Given the description of an element on the screen output the (x, y) to click on. 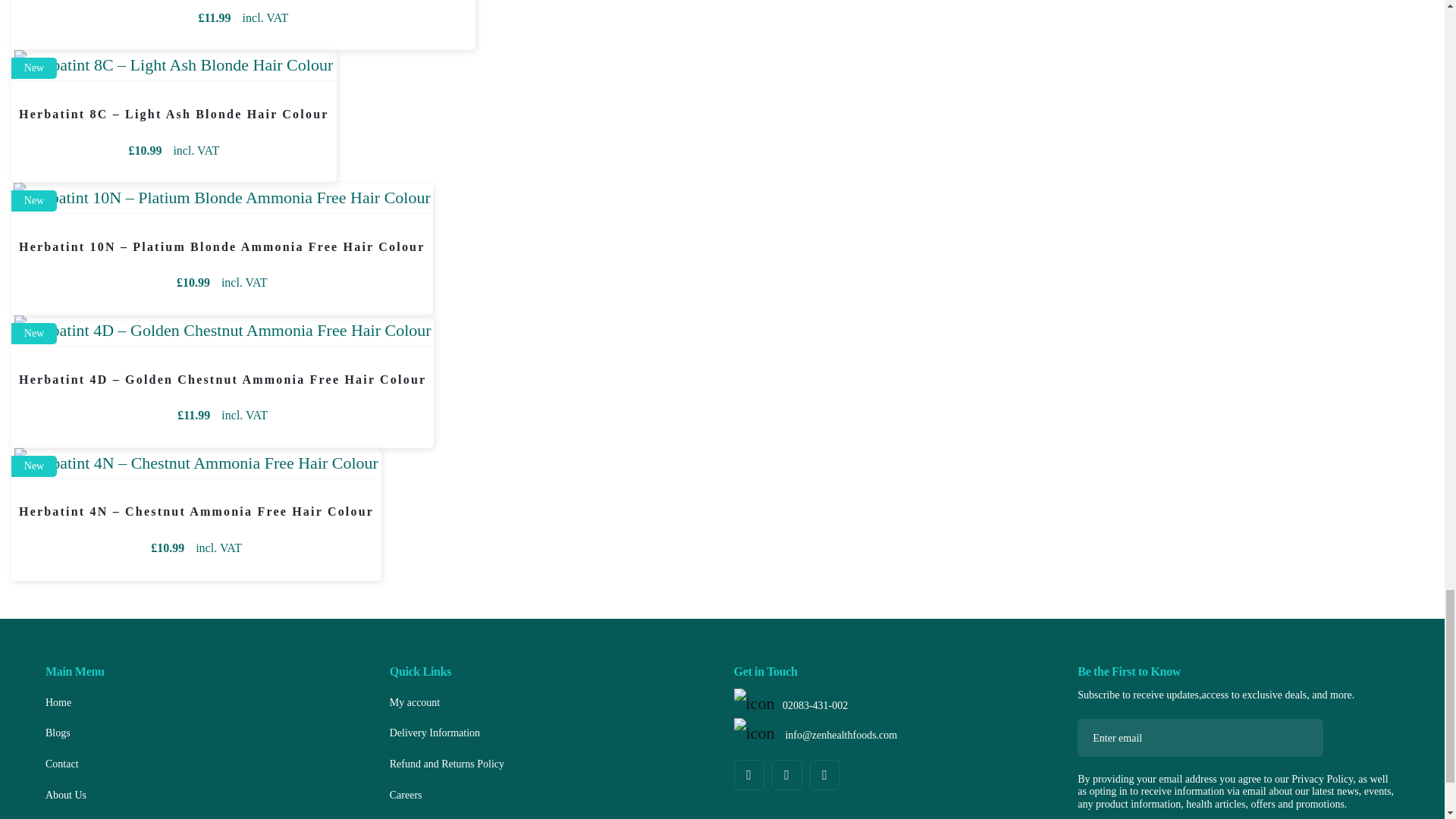
Subscribe (1297, 737)
